Given the description of an element on the screen output the (x, y) to click on. 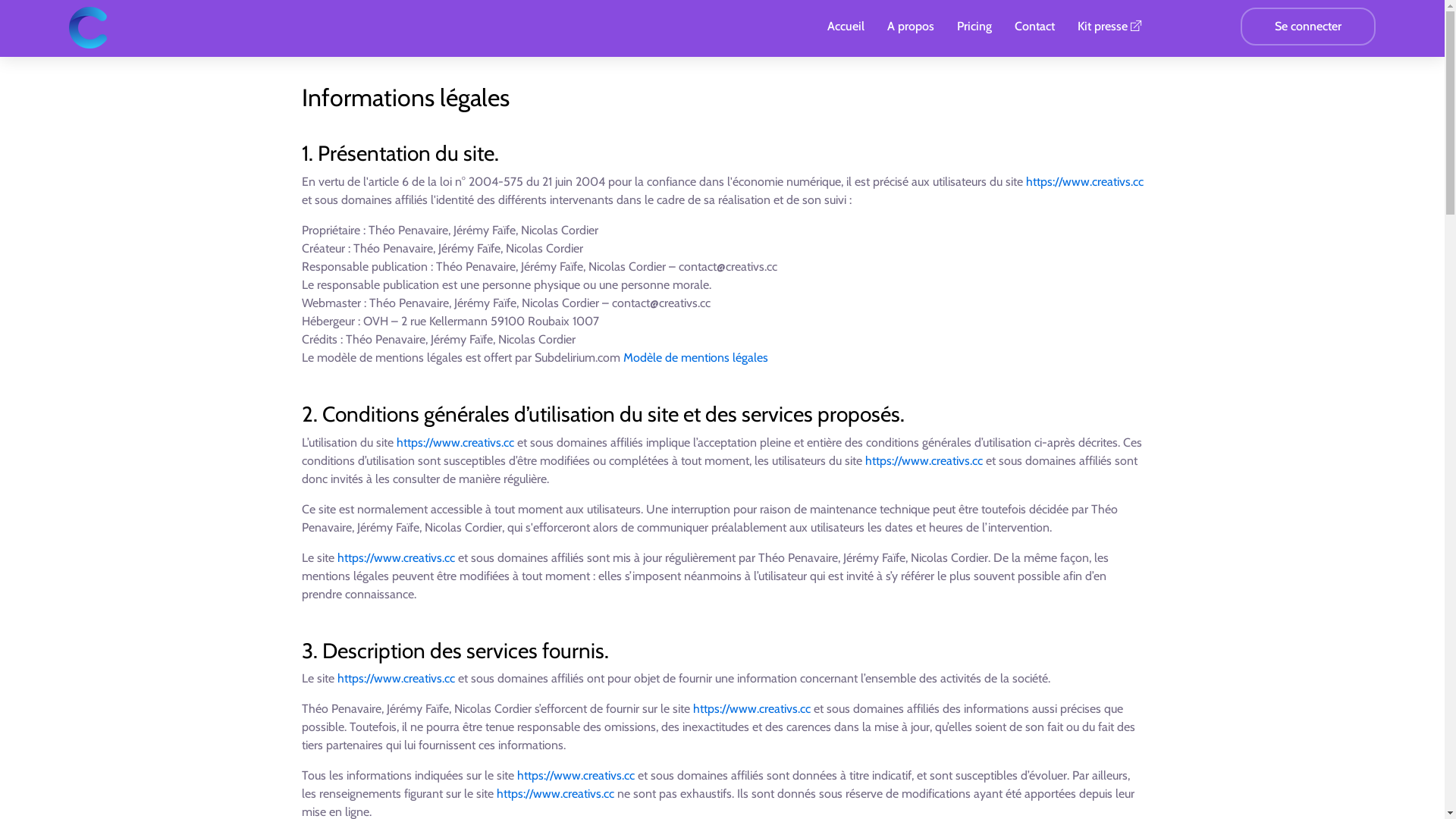
https://www.creativs.cc Element type: text (395, 678)
https://www.creativs.cc Element type: text (751, 708)
A propos Element type: text (910, 26)
https://www.creativs.cc Element type: text (575, 775)
https://www.creativs.cc Element type: text (923, 460)
https://www.creativs.cc Element type: text (554, 793)
Contact Element type: text (1034, 26)
Se connecter Element type: text (1307, 26)
https://www.creativs.cc Element type: text (454, 442)
Accueil Element type: text (845, 26)
Pricing Element type: text (974, 26)
https://www.creativs.cc Element type: text (395, 557)
https://www.creativs.cc Element type: text (1083, 181)
Conditions d'utilisation Element type: text (722, 733)
Kit presse Element type: text (1110, 26)
